Given the description of an element on the screen output the (x, y) to click on. 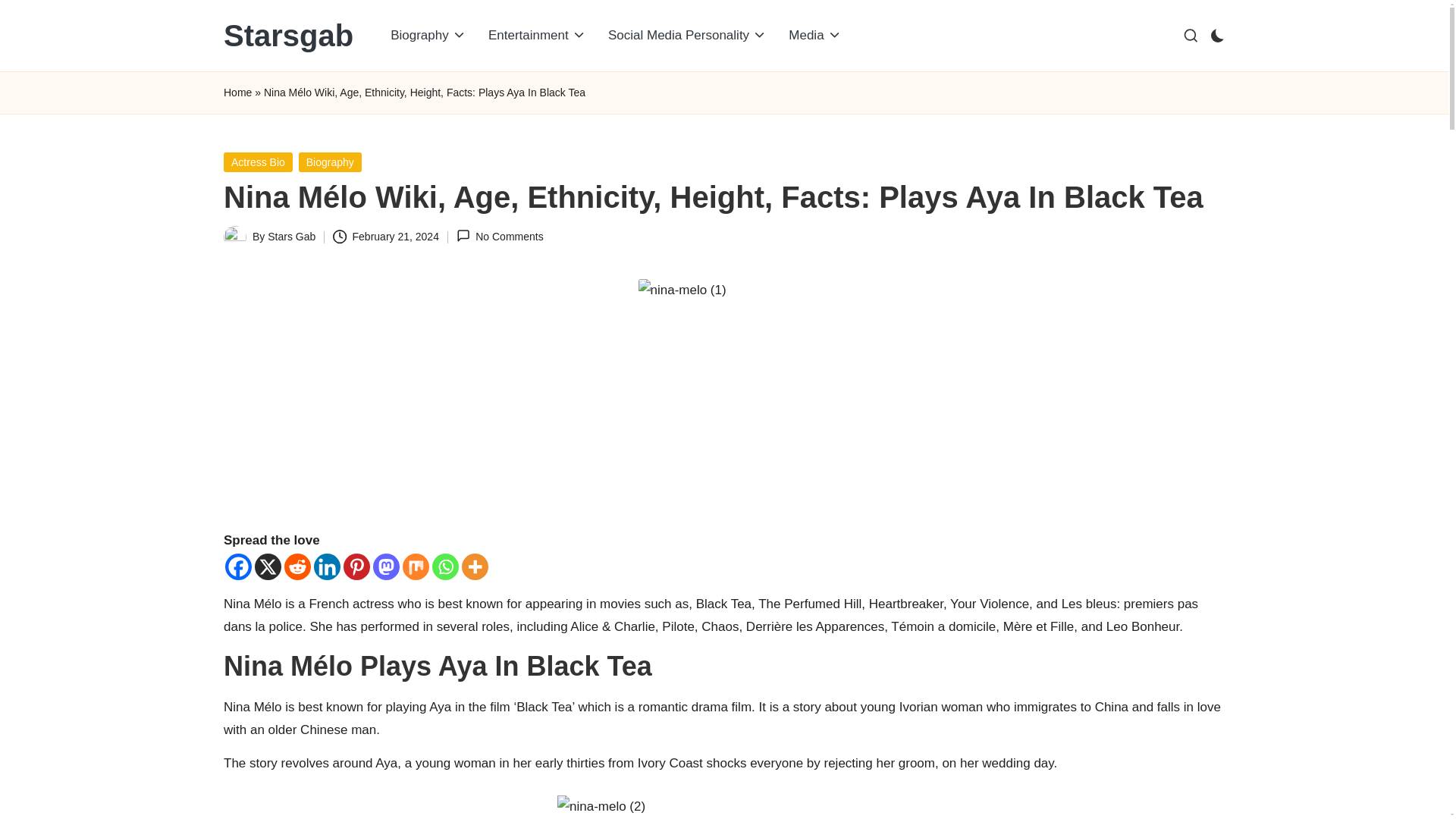
Reddit (297, 566)
Entertainment (536, 35)
Social Media Personality (686, 35)
Linkedin (327, 566)
Mastodon (385, 566)
Mix (416, 566)
Biography (428, 35)
Pinterest (356, 566)
View all posts by Stars Gab (291, 236)
More (474, 566)
